Given the description of an element on the screen output the (x, y) to click on. 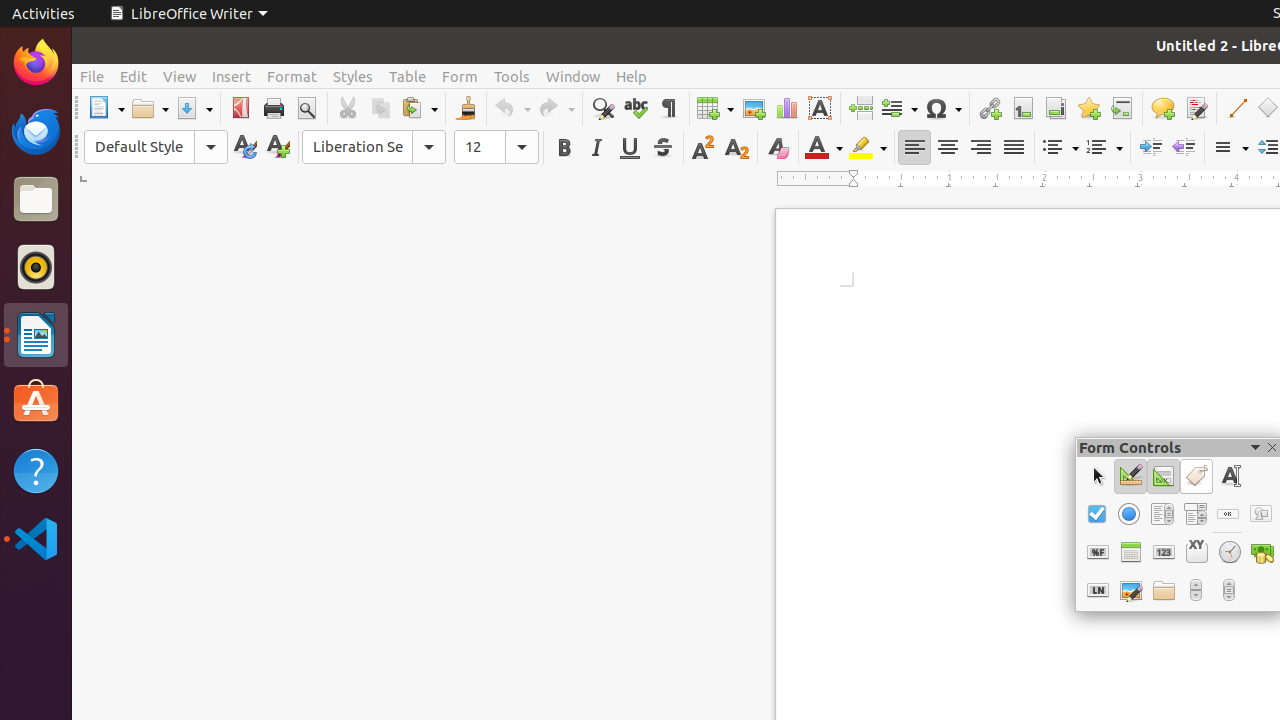
Image Control Element type: toggle-button (1130, 590)
Currency Field Element type: toggle-button (1262, 552)
Files Element type: push-button (36, 199)
Group Box Element type: toggle-button (1196, 552)
Image Button Element type: toggle-button (1260, 514)
